Given the description of an element on the screen output the (x, y) to click on. 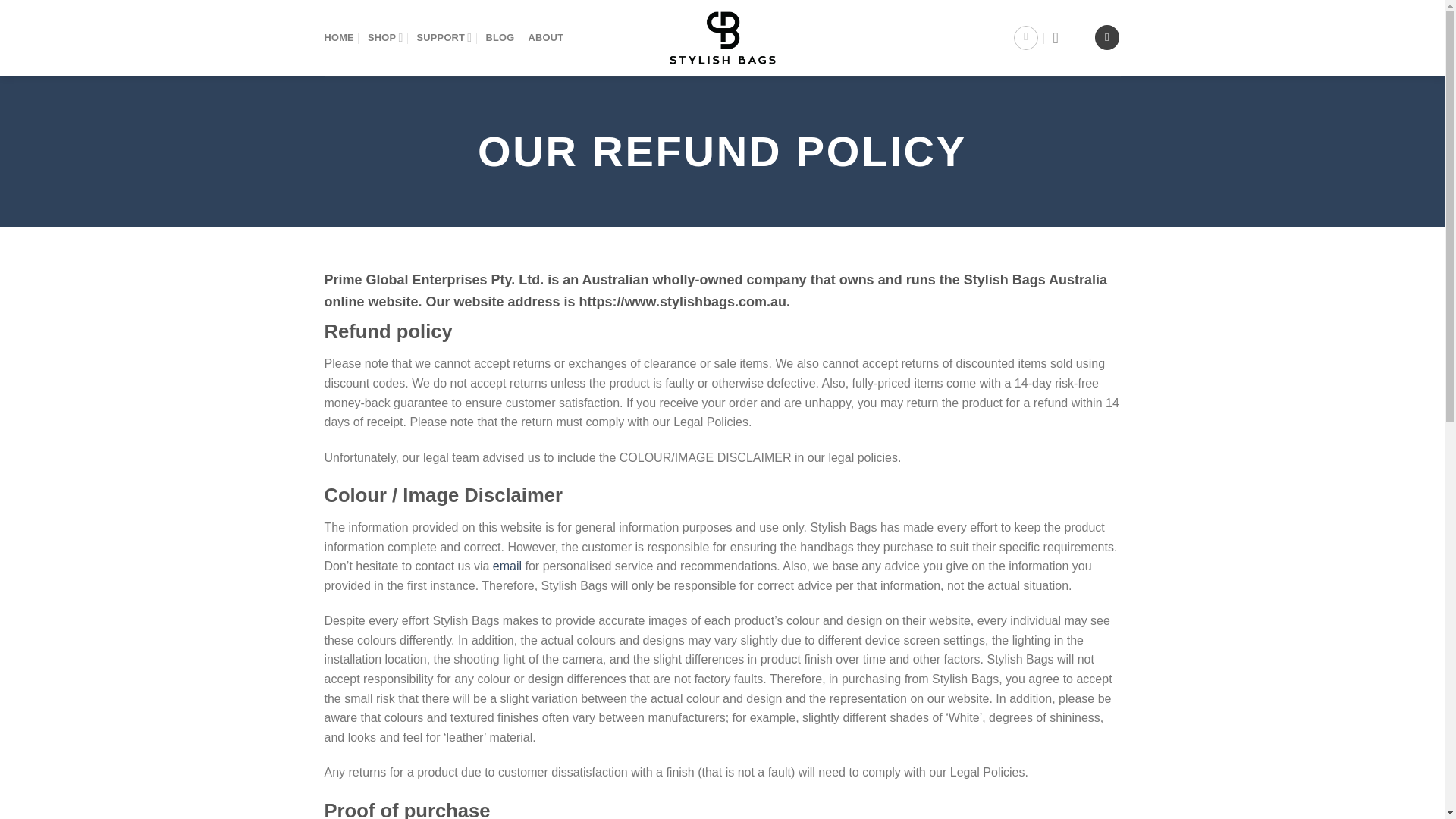
SHOP (385, 37)
email (507, 565)
Cart (1106, 37)
BLOG (498, 37)
ABOUT (545, 37)
SUPPORT (443, 37)
HOME (338, 37)
